Given the description of an element on the screen output the (x, y) to click on. 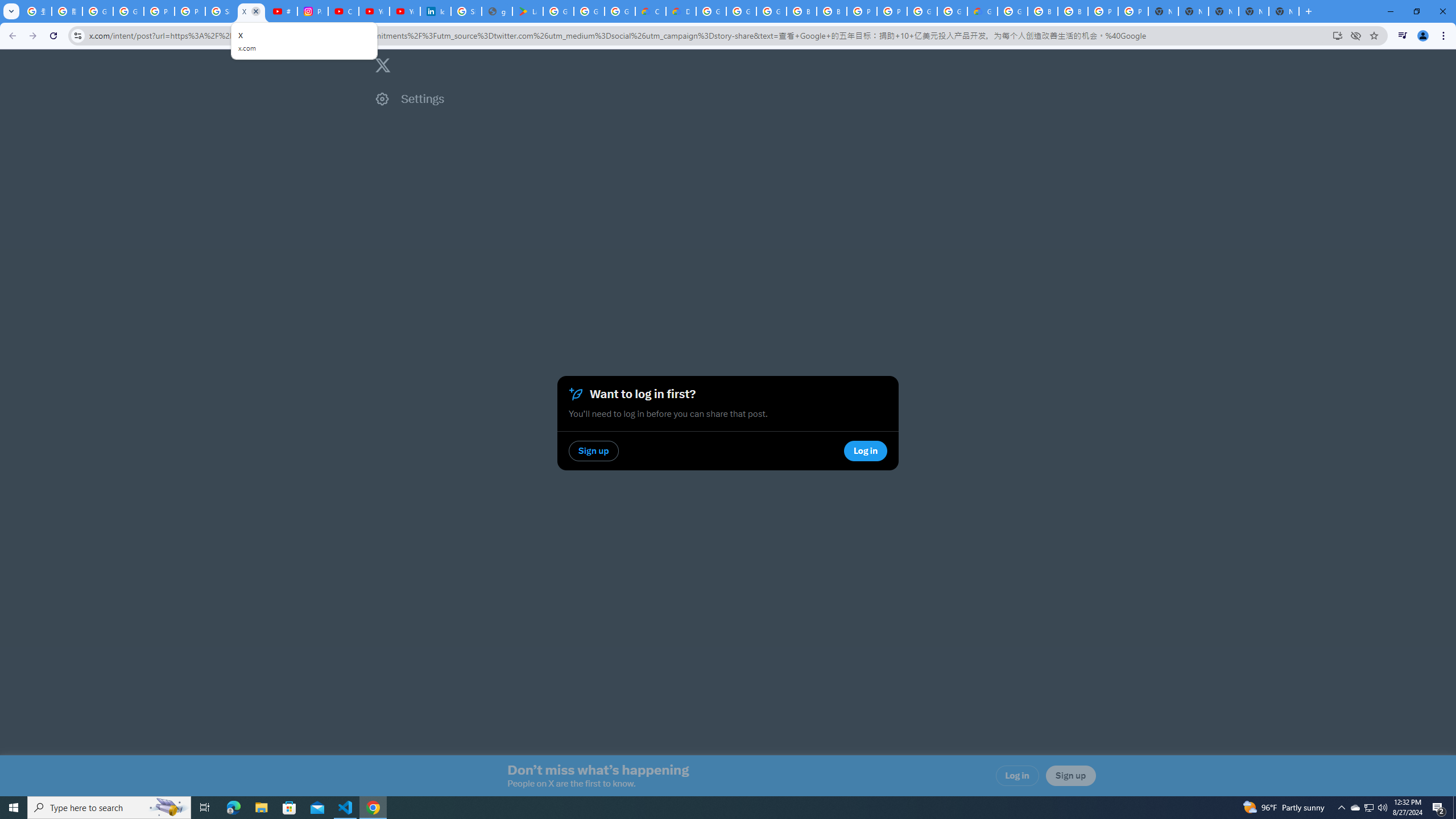
Log in (1017, 775)
Google Cloud Platform (710, 11)
Browse Chrome as a guest - Computer - Google Chrome Help (1072, 11)
#nbabasketballhighlights - YouTube (282, 11)
Google Workspace - Specific Terms (619, 11)
